Given the description of an element on the screen output the (x, y) to click on. 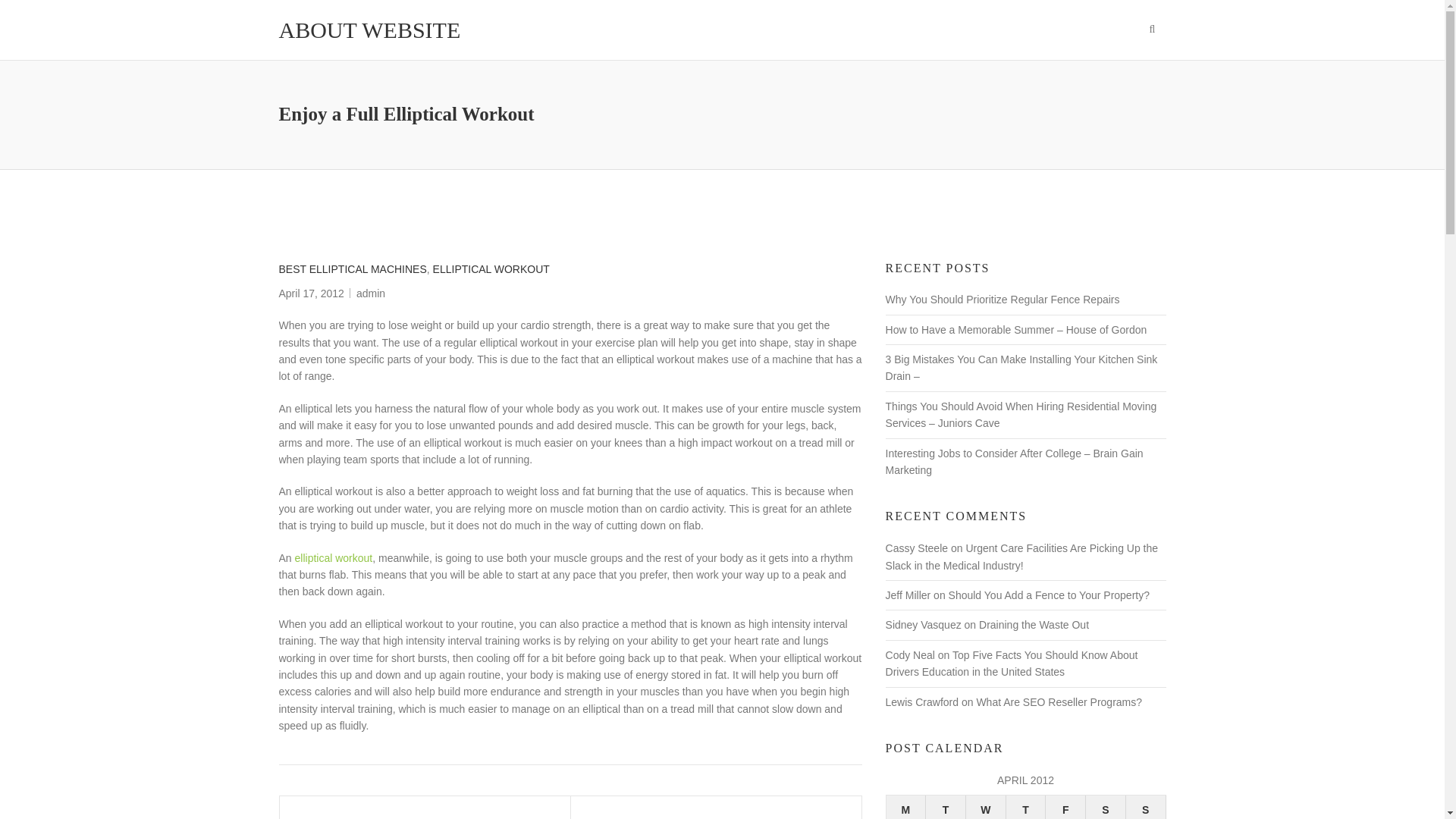
Thursday (1026, 807)
Find the Best Moving Companies (715, 807)
elliptical workout (333, 558)
ABOUT WEBSITE (370, 30)
Friday (1065, 807)
Sunday (1145, 807)
Draining the Waste Out (1033, 624)
Enjoy a Full Elliptical Workout (311, 293)
Saturday (1105, 807)
What Are SEO Reseller Programs? (1058, 702)
April 17, 2012 (311, 293)
ABOUT WEBSITE (370, 30)
Get more (333, 558)
Why NJ Web Development Services Matter (424, 807)
